Given the description of an element on the screen output the (x, y) to click on. 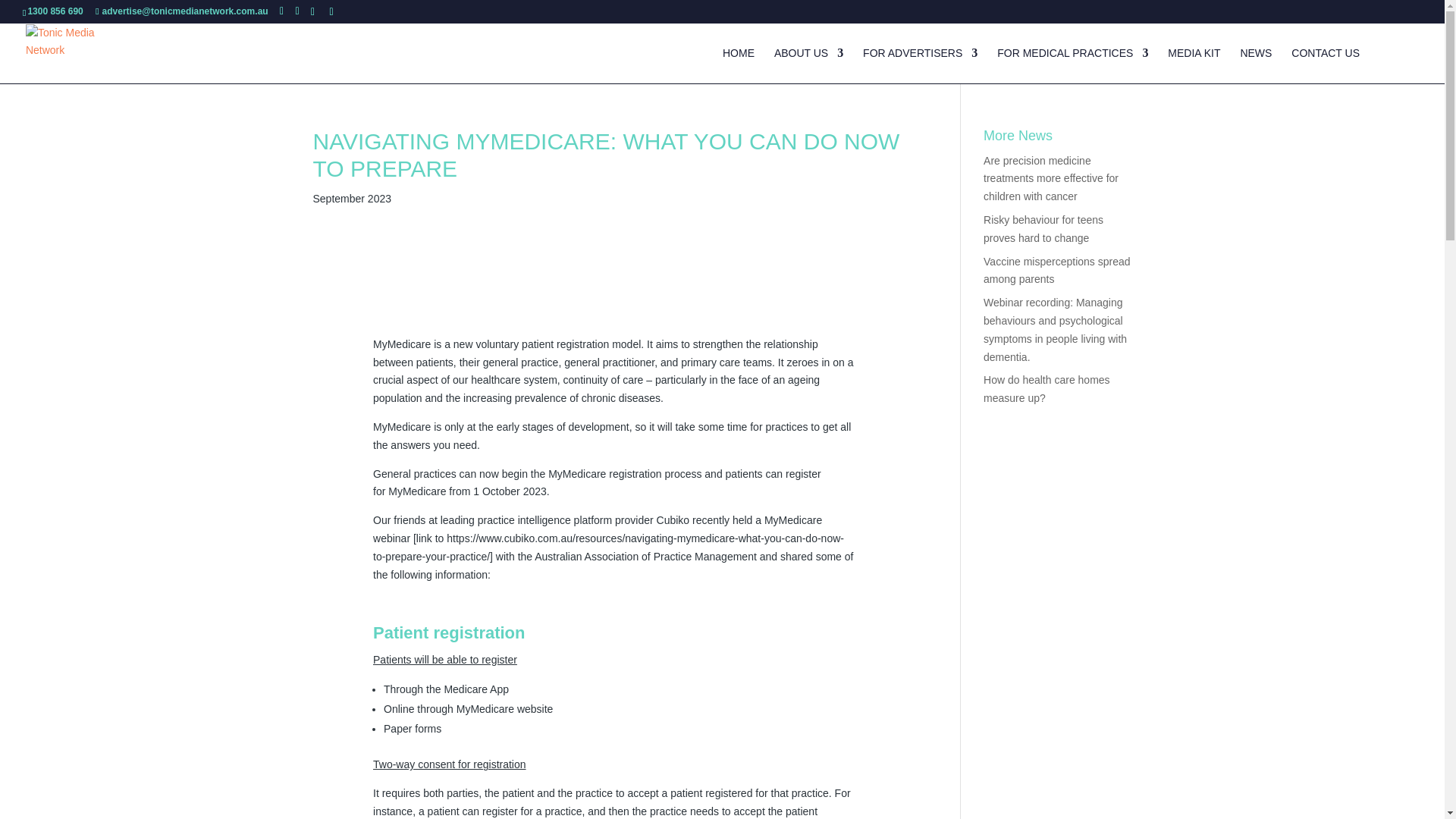
Risky behaviour for teens proves hard to change (1043, 228)
CONTACT US (1325, 65)
MEDIA KIT (1193, 65)
FOR MEDICAL PRACTICES (1072, 65)
FOR ADVERTISERS (919, 65)
HOME (738, 65)
NEWS (1255, 65)
Vaccine misperceptions spread among parents (1057, 270)
ABOUT US (808, 65)
